Given the description of an element on the screen output the (x, y) to click on. 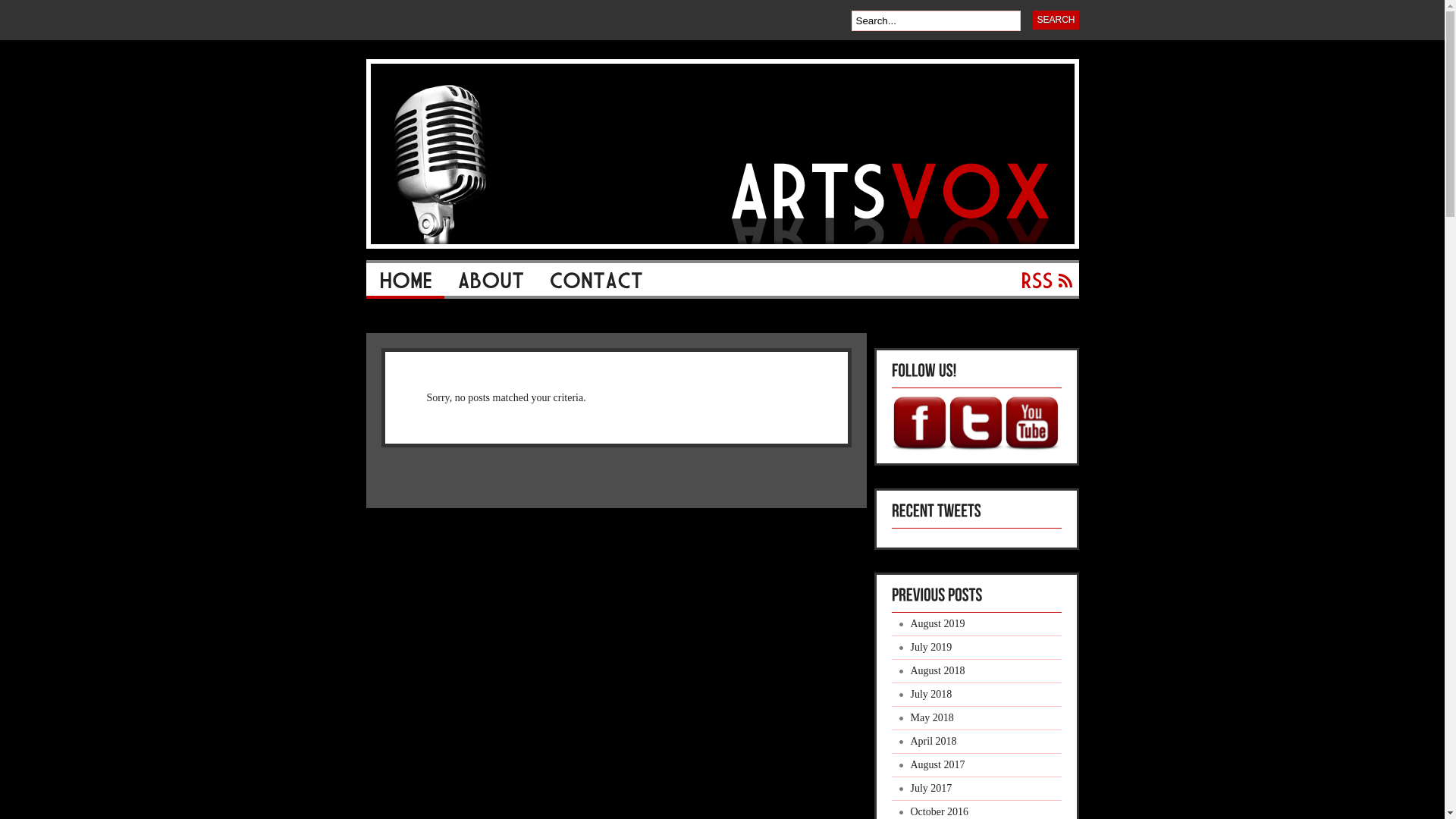
ArtsVox on Youtube Element type: hover (1032, 423)
ArtsVox on Facebook Element type: hover (919, 423)
ArtsVox on Twitter Element type: hover (975, 423)
August 2019 Element type: text (976, 624)
July 2018 Element type: text (976, 694)
July 2017 Element type: text (976, 788)
Search Element type: text (1055, 19)
August 2017 Element type: text (976, 765)
August 2018 Element type: text (976, 671)
May 2018 Element type: text (976, 718)
April 2018 Element type: text (976, 741)
Giving Voice to the Creative Process Element type: hover (721, 245)
July 2019 Element type: text (976, 647)
